Given the description of an element on the screen output the (x, y) to click on. 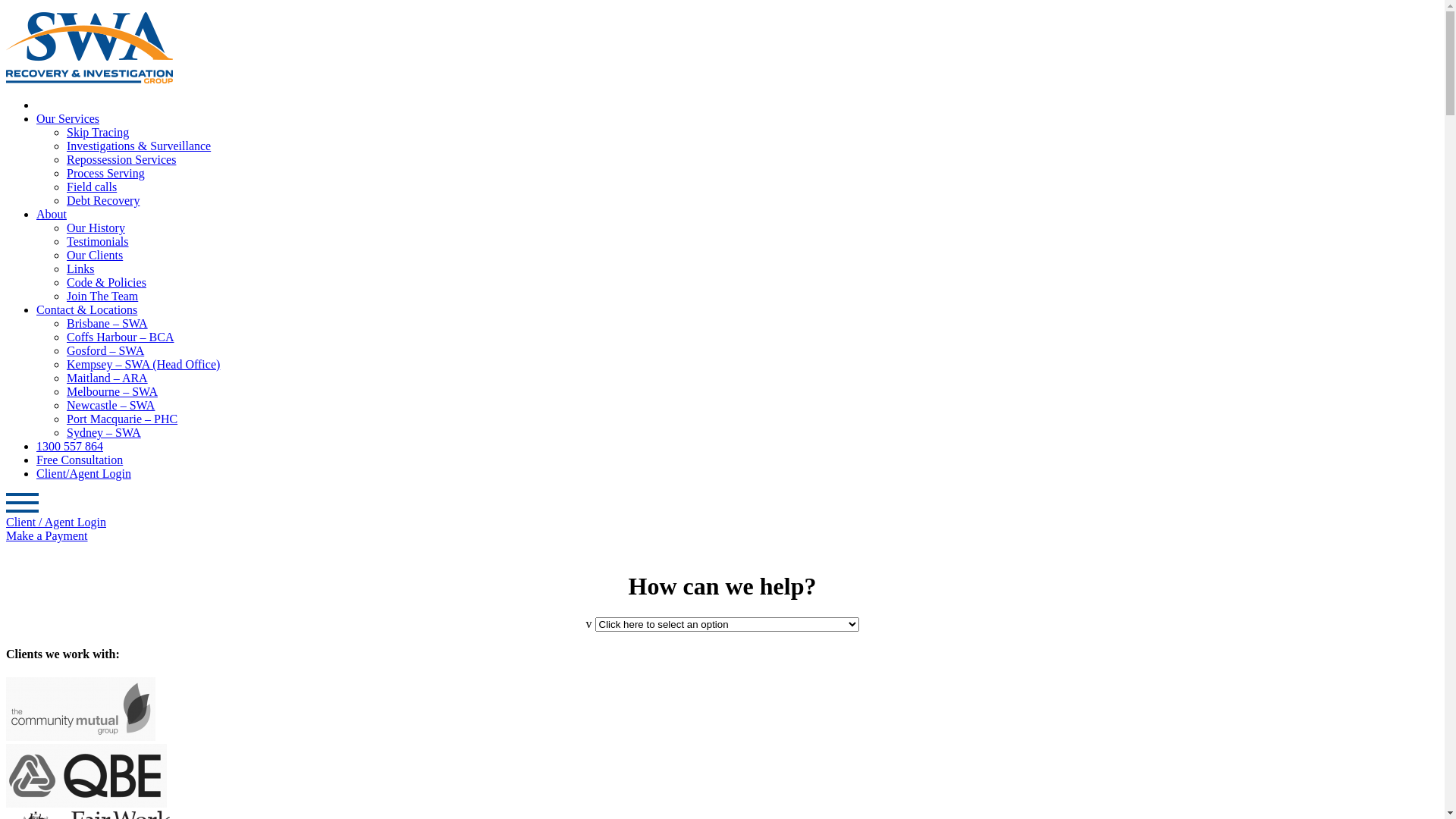
Process Serving Element type: text (105, 172)
Contact & Locations Element type: text (86, 309)
Code & Policies Element type: text (106, 282)
Free Consultation Element type: text (79, 459)
Debt Recovery Element type: text (102, 200)
Client / Agent Login Element type: text (56, 521)
Testimonials Element type: text (97, 241)
Our History Element type: text (95, 227)
1300 557 864 Element type: text (69, 445)
Repossession Services Element type: text (120, 159)
Client/Agent Login Element type: text (83, 473)
SWA Recovery and Investigation Group Element type: hover (89, 78)
Links Element type: text (80, 268)
Skip Tracing Element type: text (97, 131)
About Element type: text (51, 213)
Our Services Element type: text (67, 118)
Field calls Element type: text (91, 186)
Join The Team Element type: text (102, 295)
Our Clients Element type: text (94, 254)
Investigations & Surveillance Element type: text (138, 145)
Make a Payment Element type: text (46, 535)
